Given the description of an element on the screen output the (x, y) to click on. 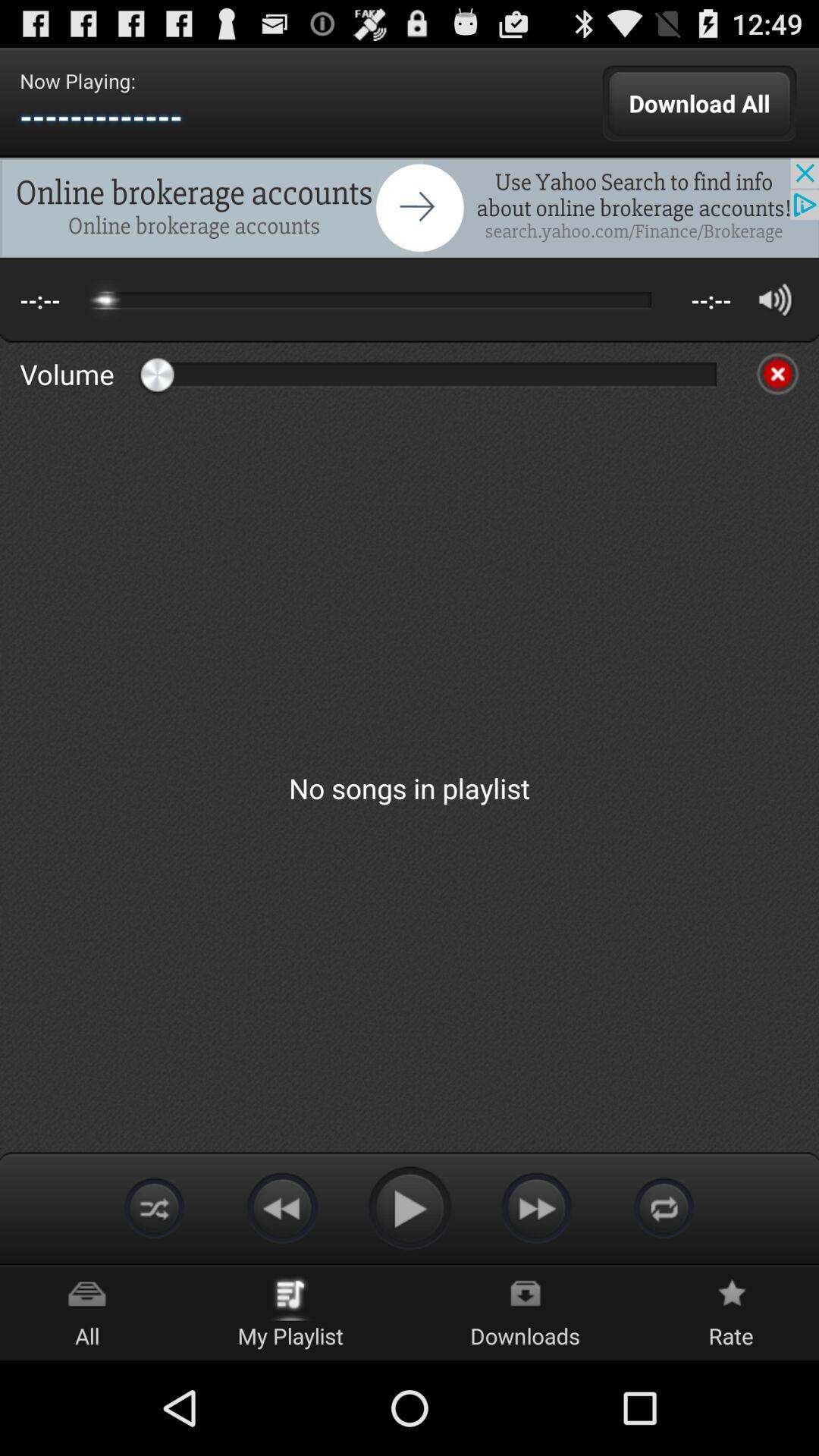
to play (409, 1207)
